Given the description of an element on the screen output the (x, y) to click on. 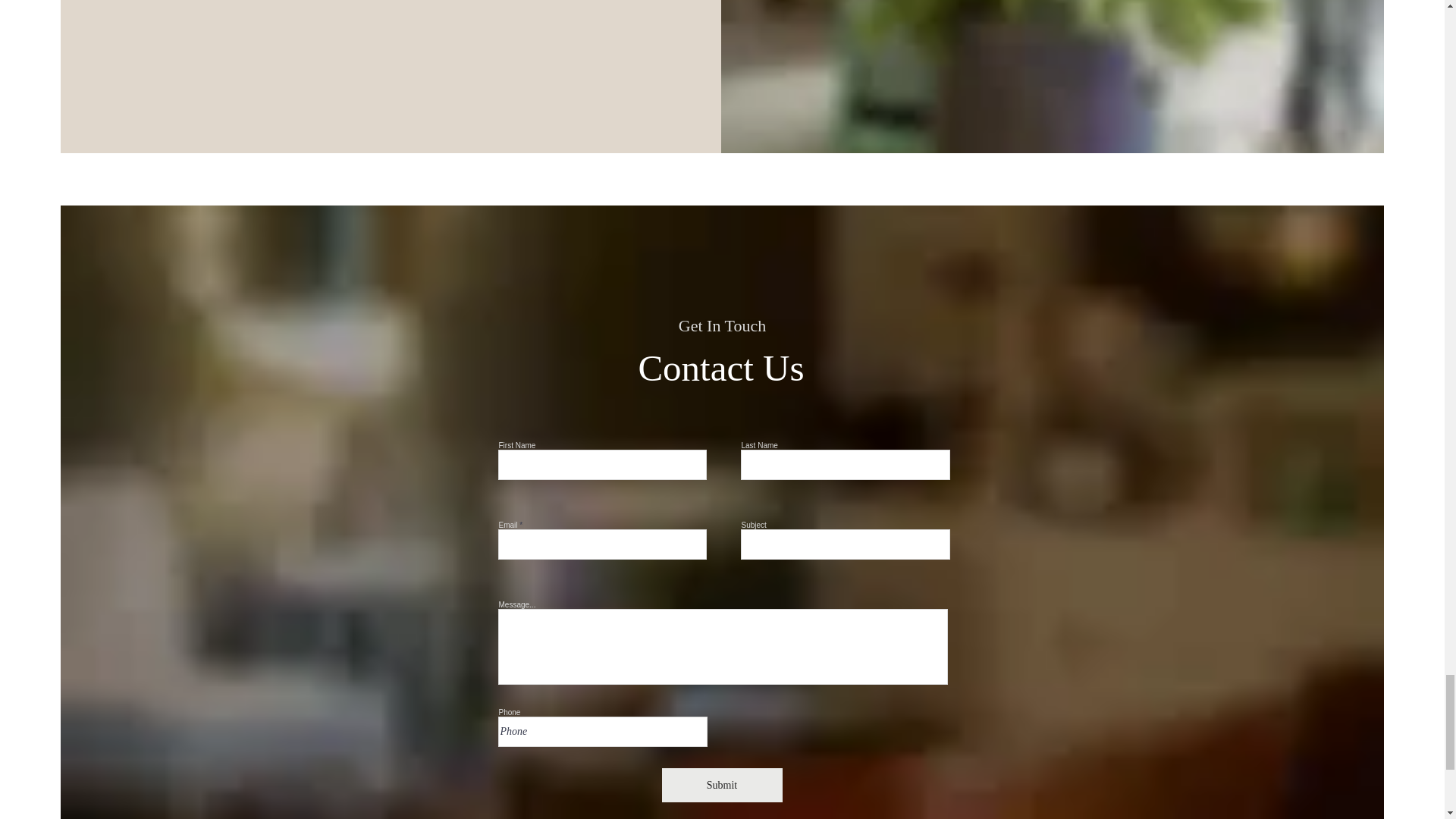
Contact Us (720, 368)
Submit (721, 785)
